Given the description of an element on the screen output the (x, y) to click on. 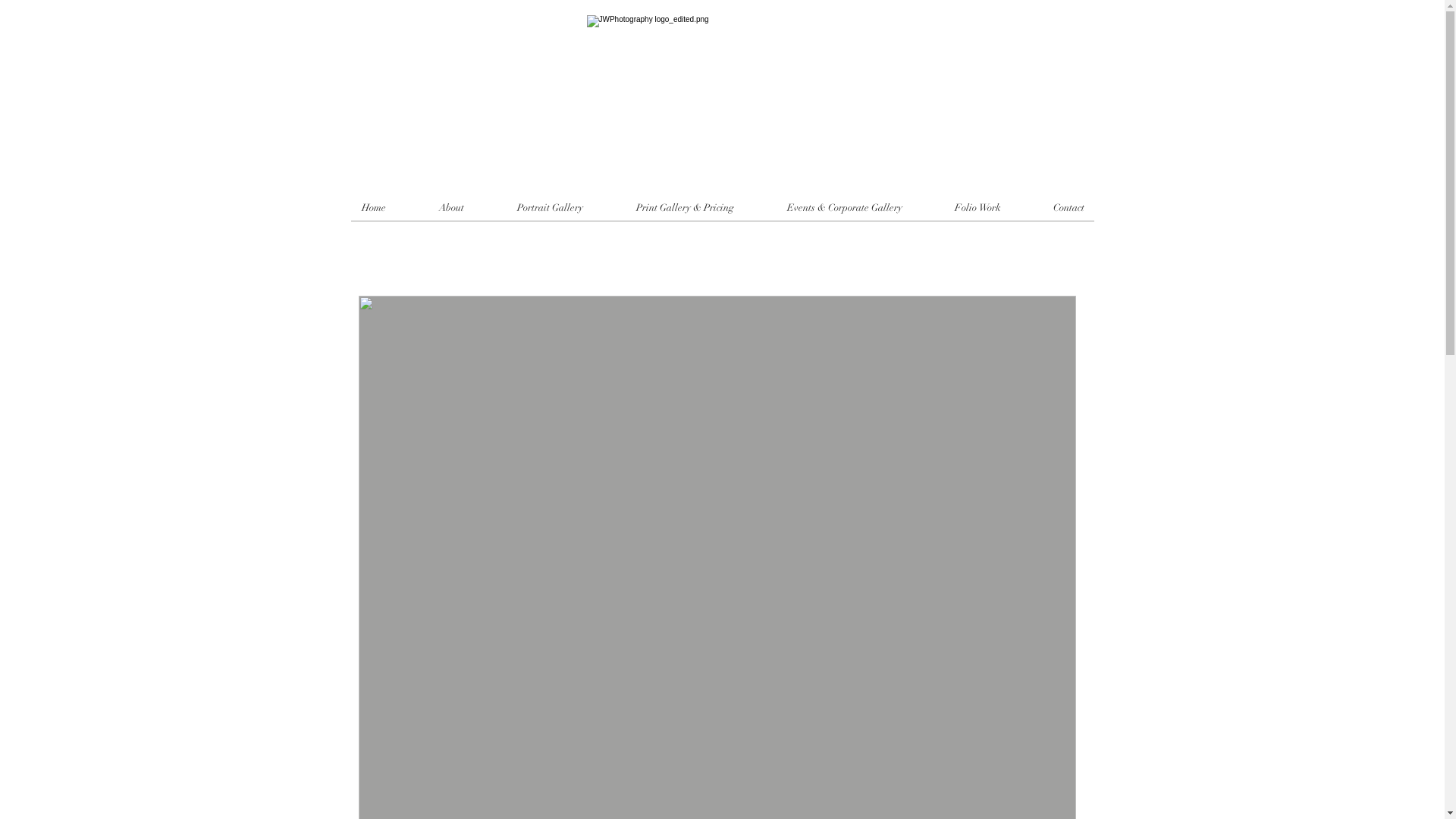
Print Gallery & Pricing Element type: text (684, 207)
Folio Work Element type: text (977, 207)
Portrait Gallery Element type: text (548, 207)
About Element type: text (451, 207)
Contact Element type: text (1068, 207)
Events & Corporate Gallery Element type: text (843, 207)
Home Element type: text (373, 207)
